Given the description of an element on the screen output the (x, y) to click on. 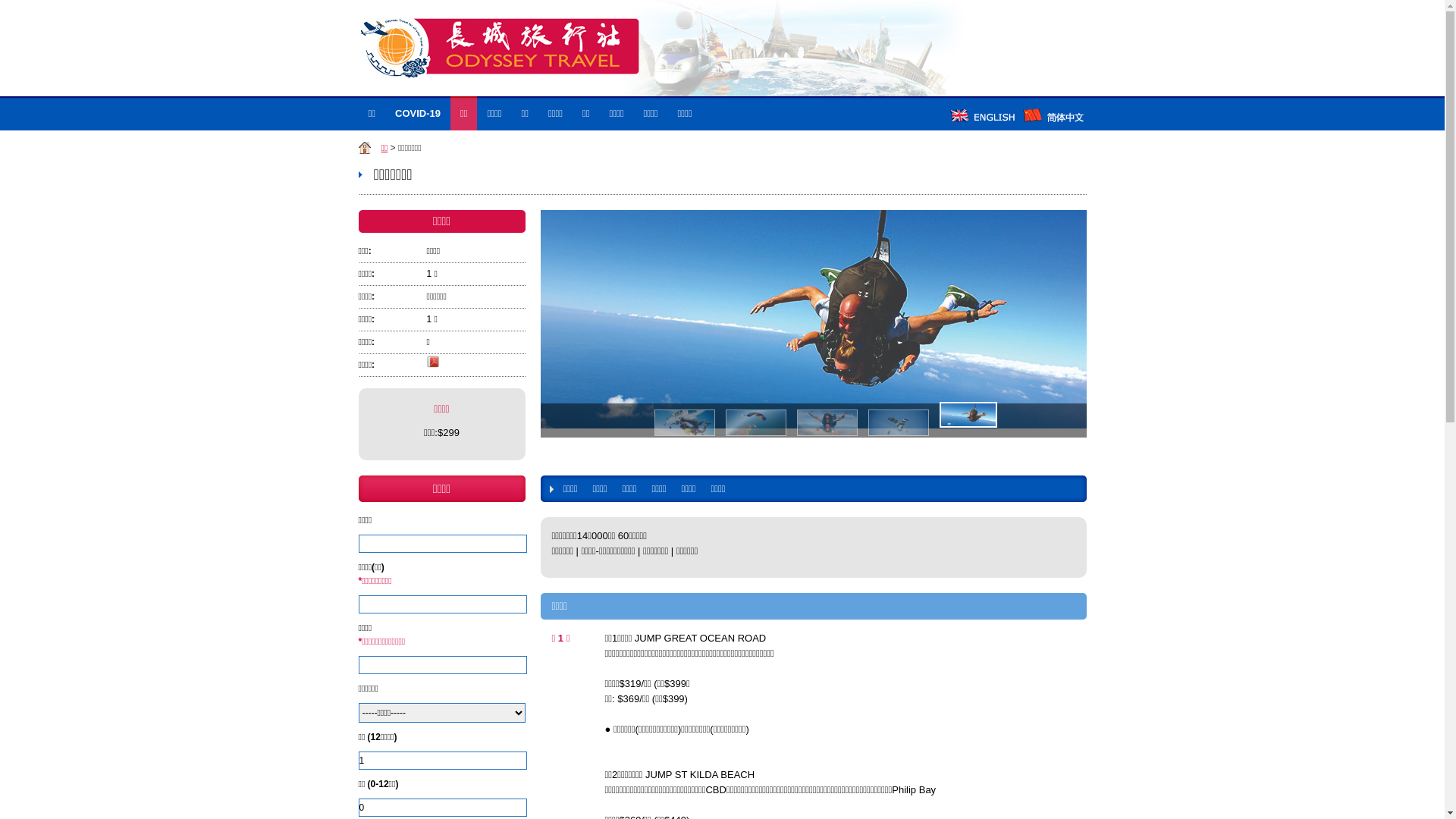
COVID-19 Element type: text (417, 113)
